Given the description of an element on the screen output the (x, y) to click on. 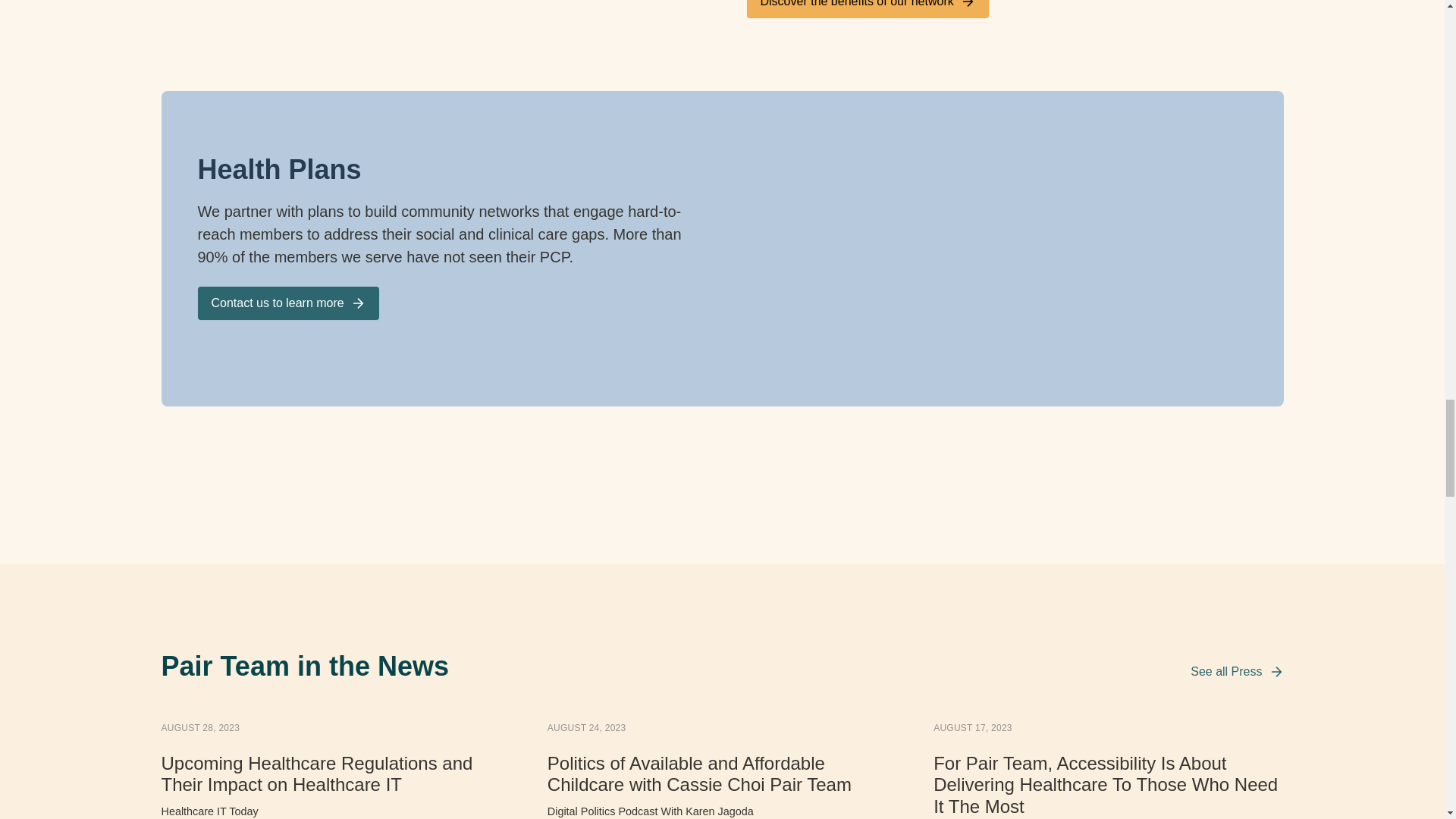
See all Press (1236, 671)
Contact us to learn more (287, 303)
Discover the benefits of our network (866, 9)
